Given the description of an element on the screen output the (x, y) to click on. 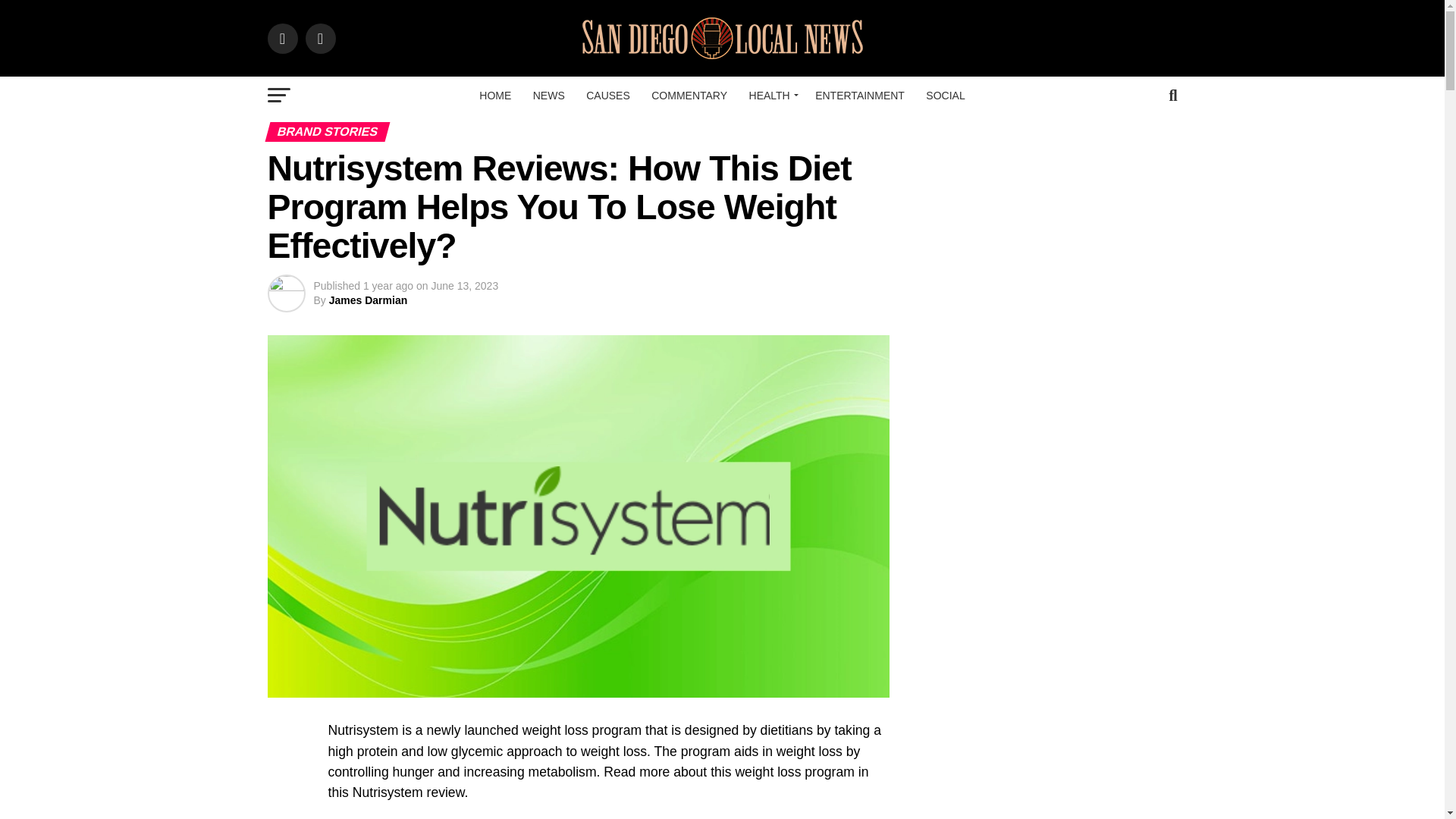
James Darmian (368, 300)
COMMENTARY (689, 95)
ENTERTAINMENT (860, 95)
HOME (494, 95)
CAUSES (607, 95)
NEWS (548, 95)
Posts by James Darmian (368, 300)
SOCIAL (945, 95)
HEALTH (771, 95)
